Given the description of an element on the screen output the (x, y) to click on. 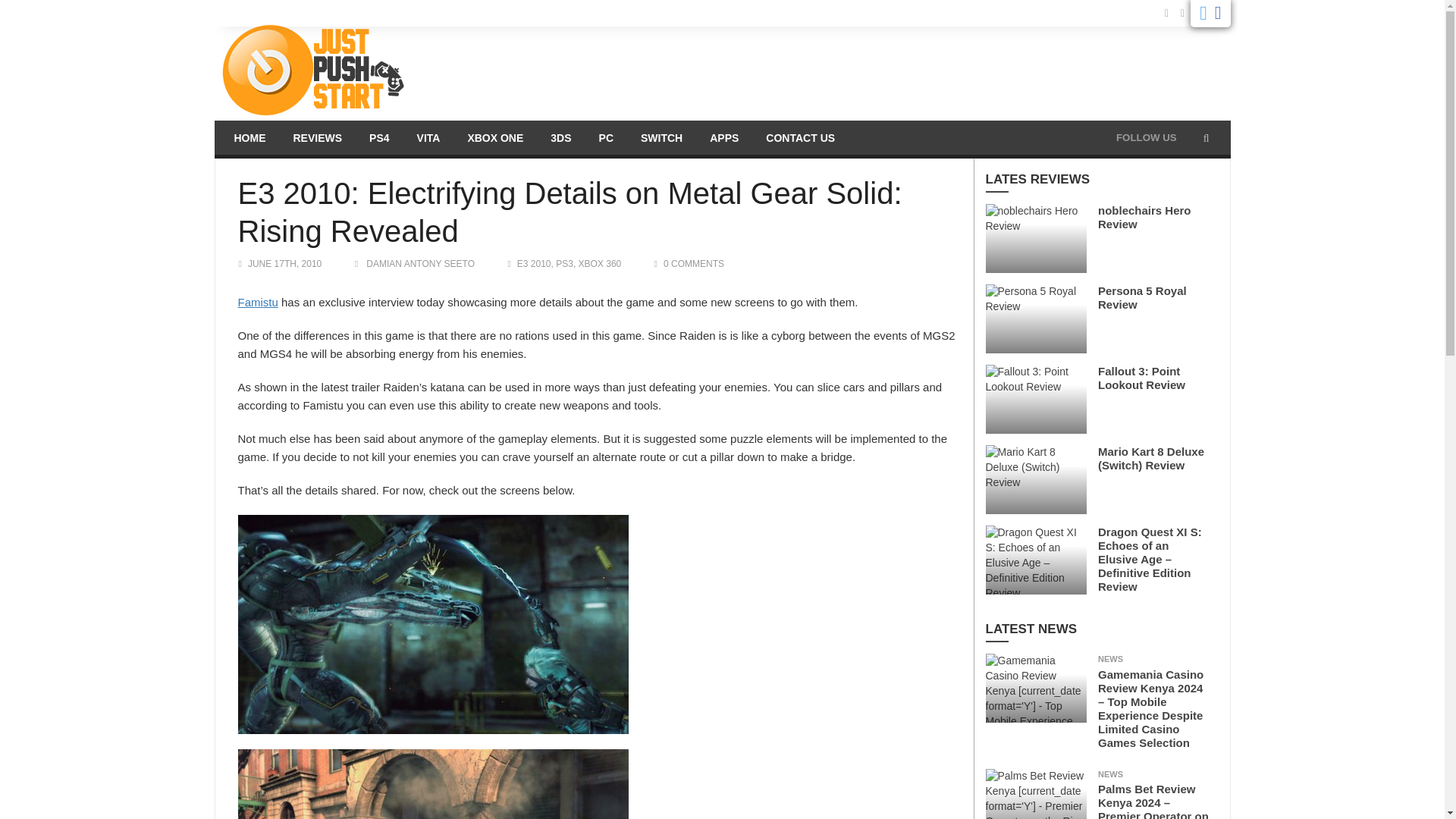
View all posts in PS3 (564, 263)
View all posts in E3 2010 (533, 263)
View all posts in XBOX 360 (599, 263)
